Given the description of an element on the screen output the (x, y) to click on. 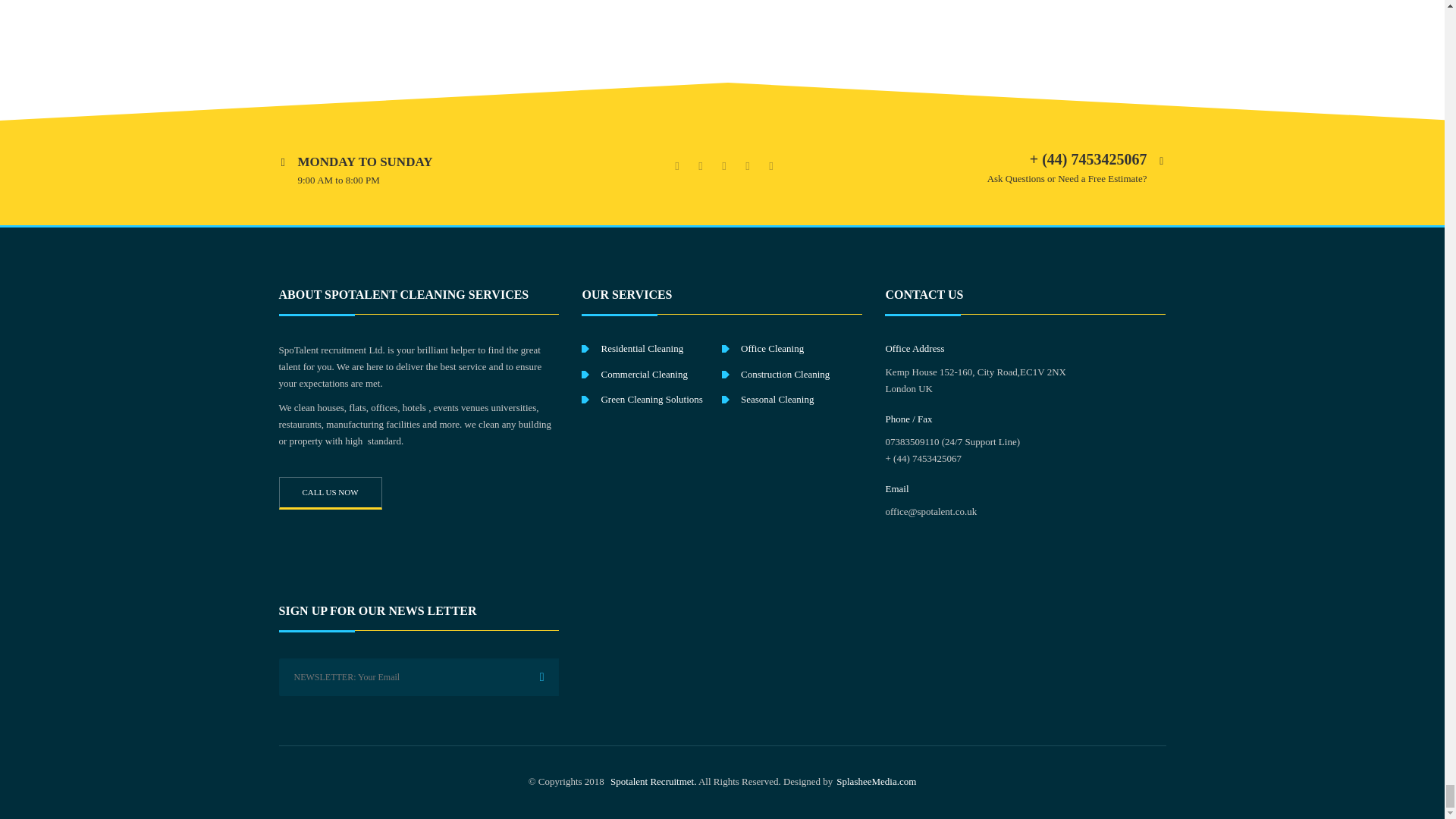
Subscribe (540, 677)
